Given the description of an element on the screen output the (x, y) to click on. 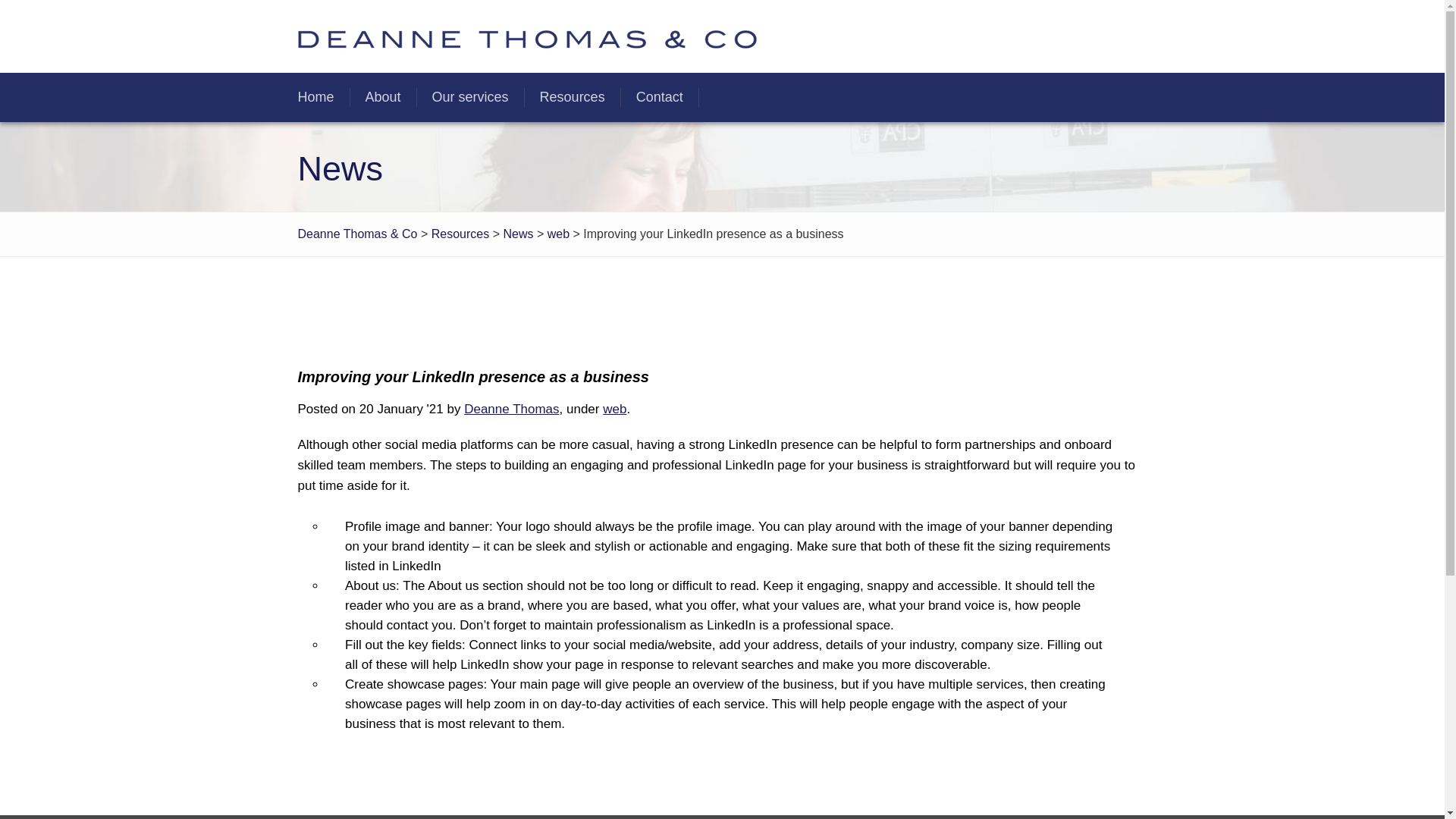
Contact Element type: text (659, 96)
Improving your LinkedIn presence as a business Element type: text (472, 376)
About Element type: text (383, 96)
Resources Element type: text (460, 233)
News Element type: text (517, 233)
Accounting, financial, business services firm Element type: hover (526, 35)
Deanne Thomas Element type: text (511, 408)
Deanne Thomas & Co Element type: text (357, 233)
web Element type: text (614, 408)
Home Element type: text (315, 96)
Our services Element type: text (470, 96)
web Element type: text (558, 233)
Resources Element type: text (572, 96)
